Given the description of an element on the screen output the (x, y) to click on. 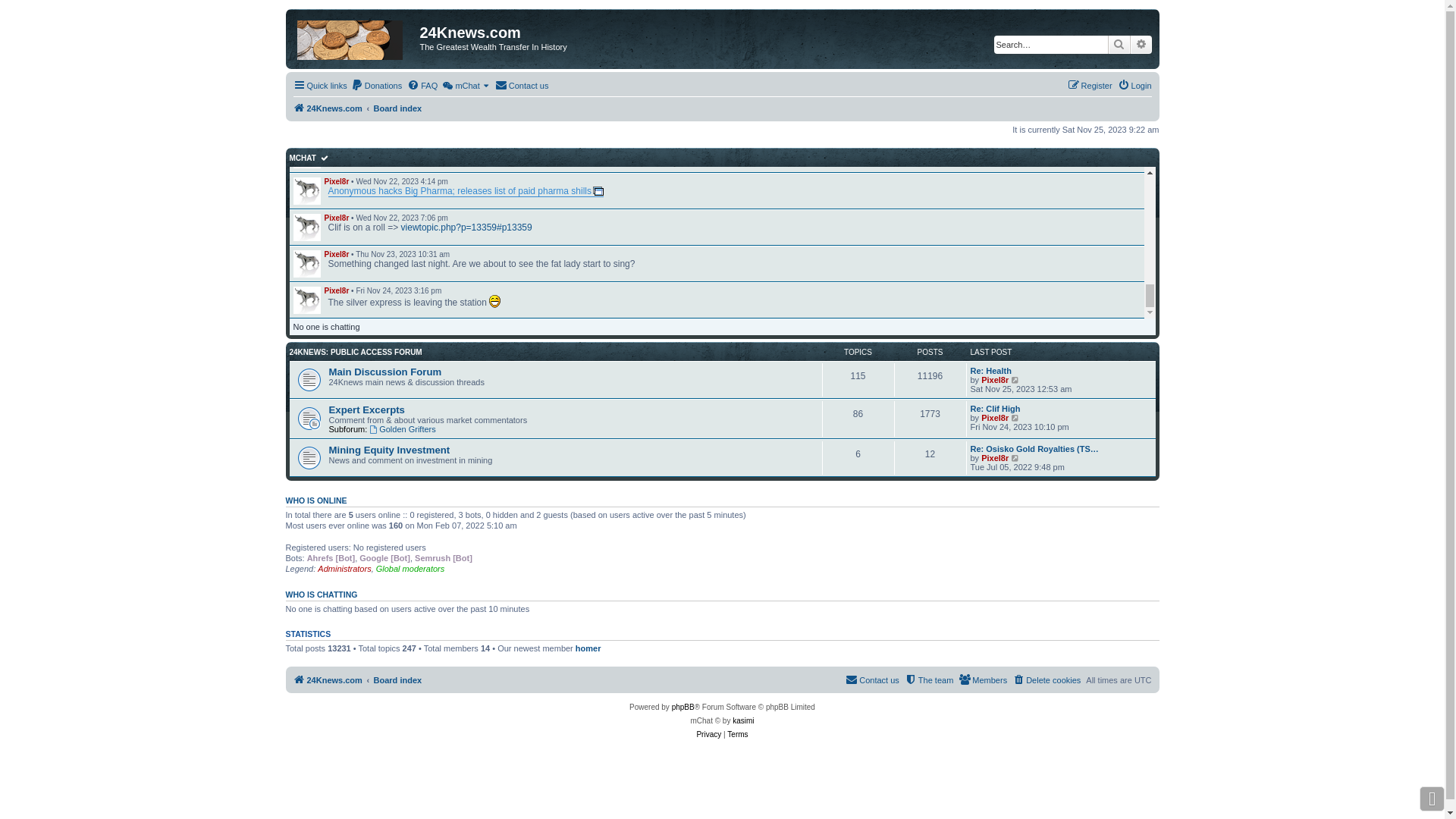
Profile Element type: hover (306, 299)
Profile Element type: hover (306, 117)
Profile Element type: hover (306, 154)
WHO IS ONLINE Element type: text (315, 500)
The team Element type: text (928, 680)
Advanced search Element type: text (1140, 44)
Pixel8r Element type: text (336, 254)
Members Element type: text (982, 680)
WHO IS CHATTING Element type: text (321, 594)
Re: Health Element type: text (990, 370)
Profile Element type: hover (306, 263)
Profile Element type: hover (306, 190)
Re: Clif High Element type: text (995, 408)
Pixel8r Element type: text (336, 290)
Expert Excerpts Element type: text (499, 81)
View the latest post Element type: text (1015, 379)
24Knews.com Element type: text (326, 108)
Board index Element type: text (397, 680)
viewtopic.php?p=13359#p13359 Element type: text (466, 227)
Search for keywords Element type: hover (1050, 44)
Pixel8r Element type: text (994, 457)
View the latest post Element type: text (1015, 417)
Register Element type: text (1089, 85)
Contact us Element type: text (522, 85)
Pixel8r Element type: text (336, 217)
Rolling Eyes Element type: hover (685, 155)
OK Element type: hover (324, 156)
Very Happy Element type: hover (494, 300)
MCHAT Element type: text (302, 157)
homer Element type: text (588, 648)
Mining Equity Investment Element type: text (389, 449)
Profile Element type: hover (306, 227)
24Knews.com Element type: hover (354, 36)
Board index Element type: text (397, 108)
Privacy Element type: text (708, 734)
Pixel8r Element type: text (336, 108)
Pixel8r Element type: text (336, 35)
Main Discussion Forum Element type: text (385, 371)
Contact us Element type: text (872, 680)
https://qofficial.net/en-gbp/password Element type: text (696, 118)
Thumbup Element type: hover (487, 46)
phpBB Element type: text (682, 707)
mChat Element type: text (465, 85)
Login Element type: text (1134, 85)
Quick links Element type: text (319, 85)
Golden Grifters Element type: text (402, 428)
Delete cookies Element type: text (1046, 680)
24Knews.com Element type: text (326, 680)
FAQ Element type: text (422, 85)
Donations Element type: text (376, 85)
Global moderators Element type: text (410, 568)
Expert Excerpts Element type: text (366, 409)
Pixel8r Element type: text (336, 145)
Pixel8r Element type: text (336, 181)
Pixel8r Element type: text (994, 379)
https://thegreattaking.com/ Element type: text (975, 9)
Search Element type: text (1118, 44)
Administrators Element type: text (343, 568)
Pat Condell Element type: text (431, 81)
Profile Element type: hover (306, 81)
Terms Element type: text (737, 734)
24KNEWS: PUBLIC ACCESS FORUM Element type: text (355, 352)
Profile Element type: hover (306, 45)
kasimi Element type: text (742, 721)
Pixel8r Element type: text (994, 417)
Acton Boy Element type: text (341, 72)
View the latest post Element type: text (1015, 457)
